Given the description of an element on the screen output the (x, y) to click on. 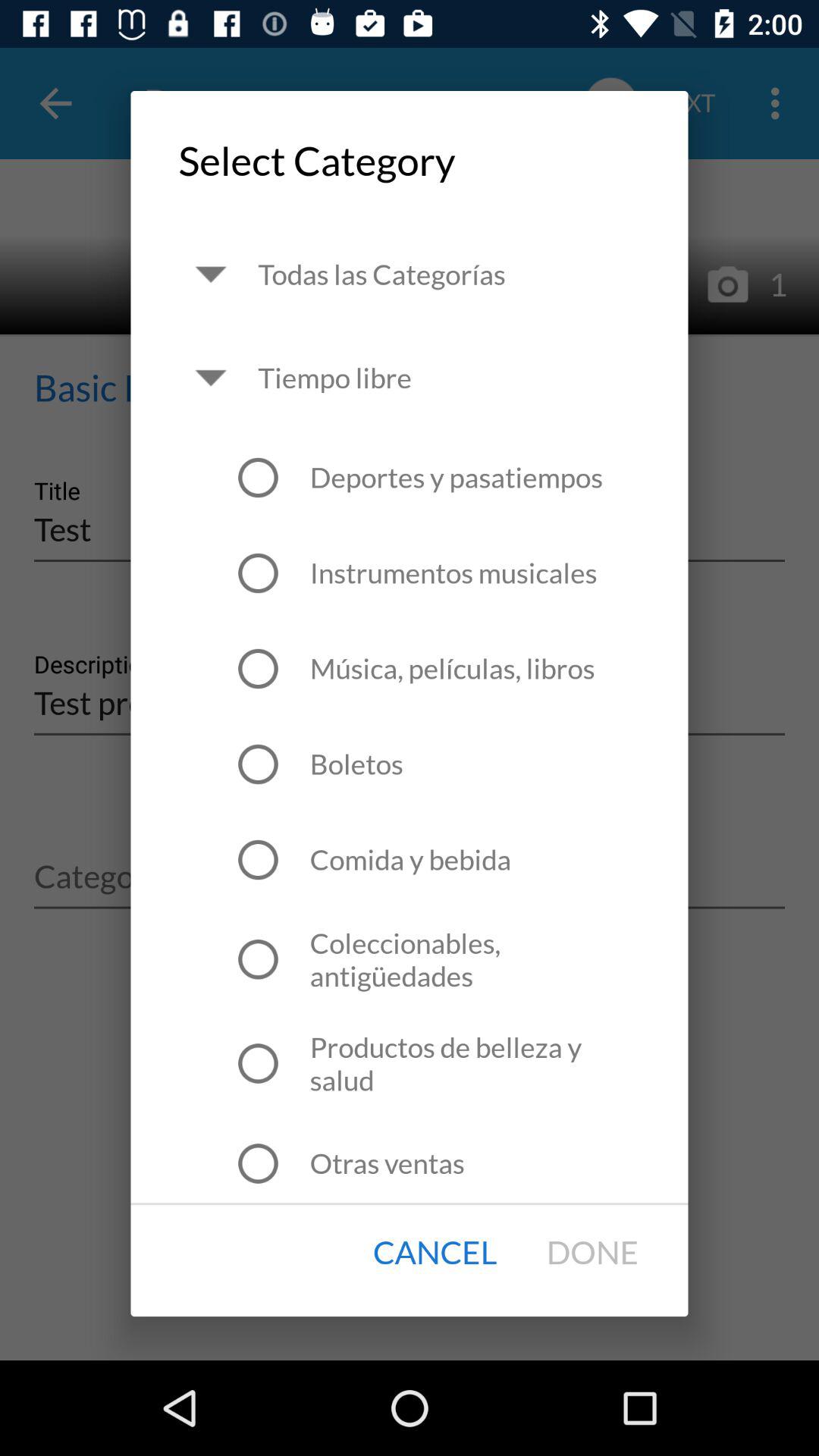
turn on the item below boletos (410, 859)
